Given the description of an element on the screen output the (x, y) to click on. 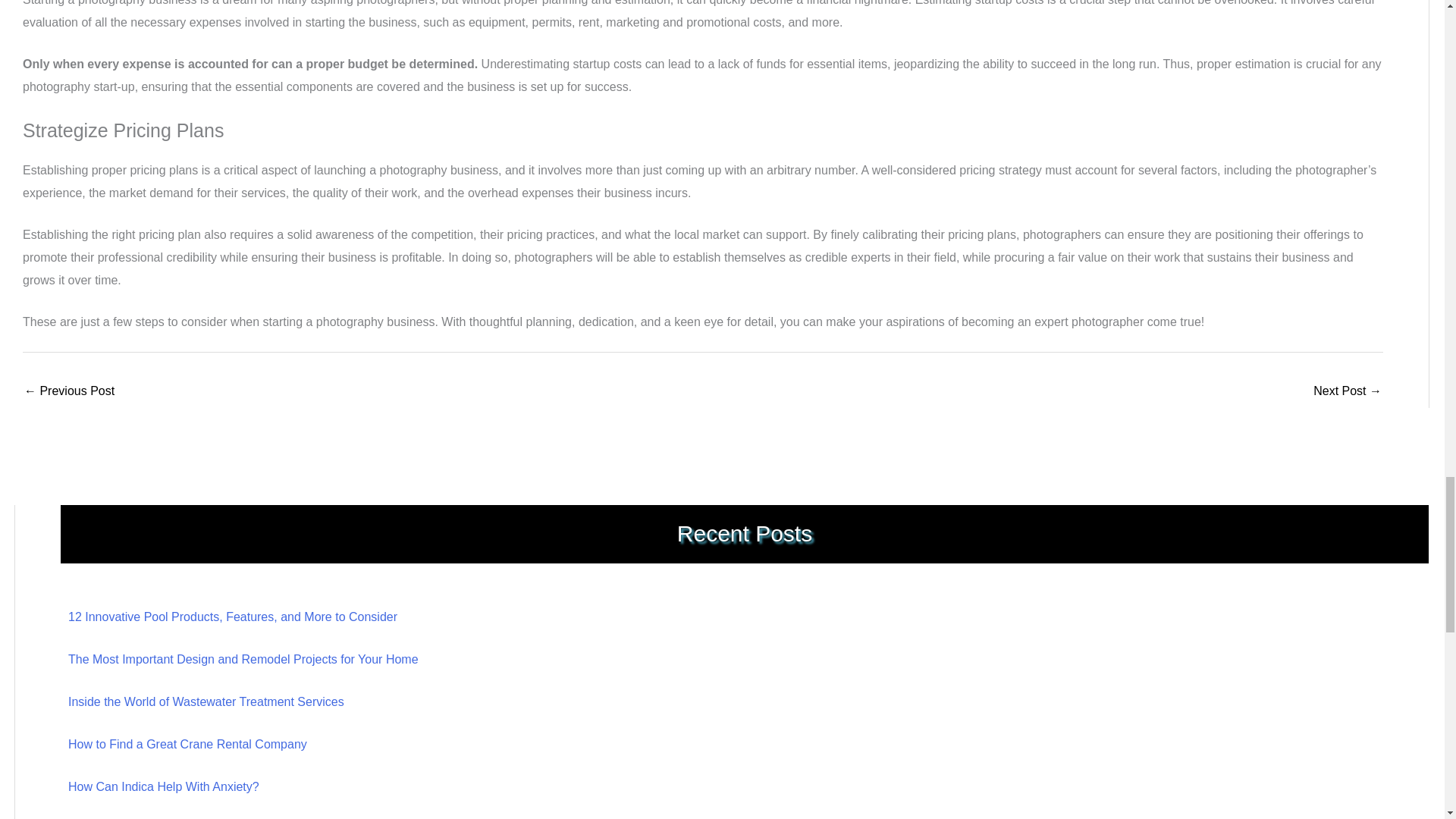
How Can Indica Help With Anxiety? (163, 786)
12 Innovative Pool Products, Features, and More to Consider (232, 616)
The Most Important Design and Remodel Projects for Your Home (243, 658)
How to Handle Inappropriate Behavior in the Workplace (69, 392)
Inside the World of Wastewater Treatment Services (205, 701)
How to Find a Great Crane Rental Company (187, 744)
